Given the description of an element on the screen output the (x, y) to click on. 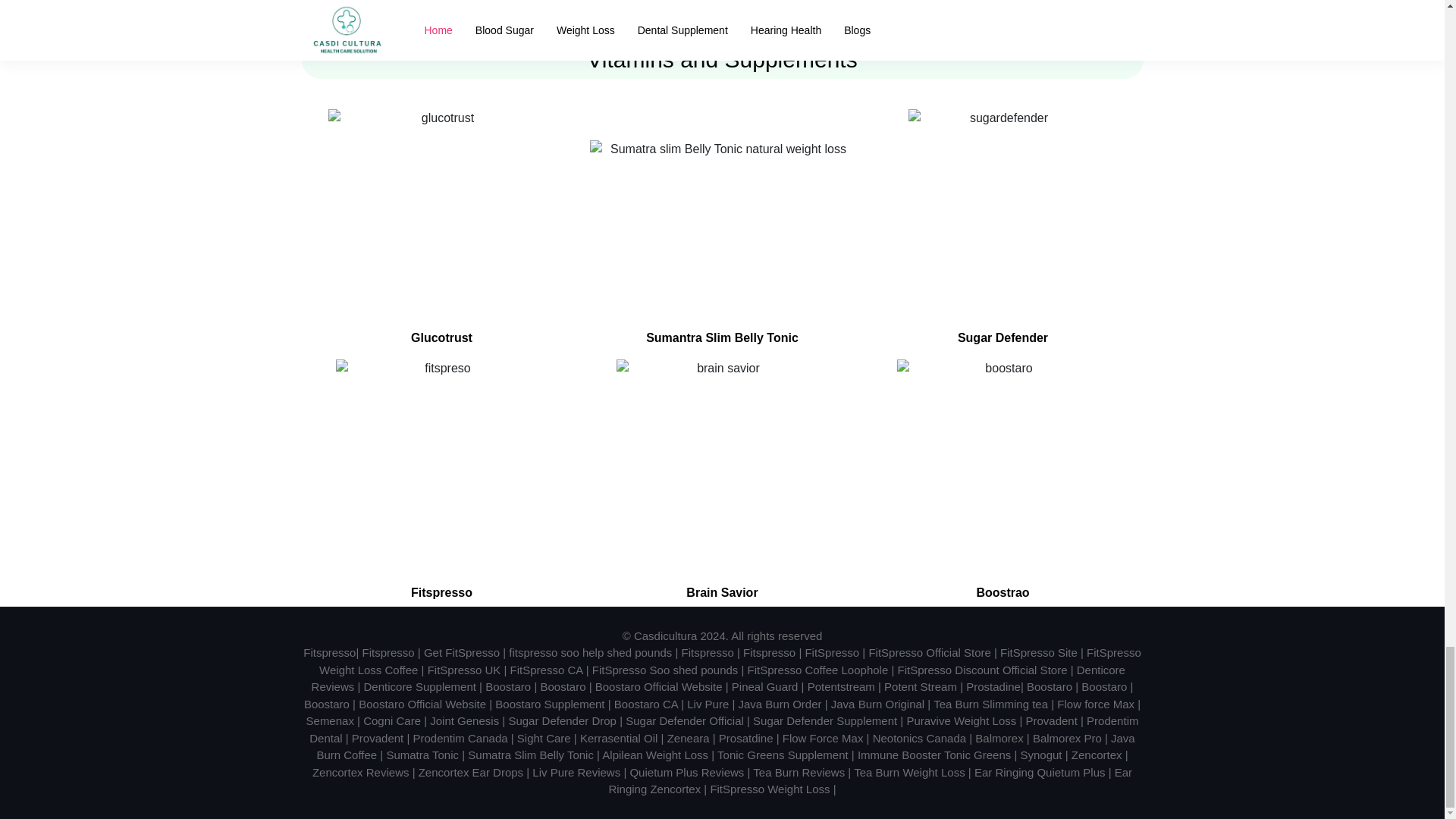
FitSpresso Site (1038, 652)
FitSpresso Official Store (928, 652)
Fitspresso (768, 652)
FitSpresso Weight Loss Coffee (729, 661)
Fitspresso (328, 652)
FitSpresso CA (547, 669)
Denticore Reviews (718, 678)
FitSpresso Soo shed pounds (665, 669)
Get FitSpresso (461, 652)
FitSpresso Discount Official Store (982, 669)
Casdicultura (665, 635)
FitSpresso UK (464, 669)
Fitspresso (707, 652)
FitSpresso Coffee Loophole (818, 669)
Fitspresso (388, 652)
